Given the description of an element on the screen output the (x, y) to click on. 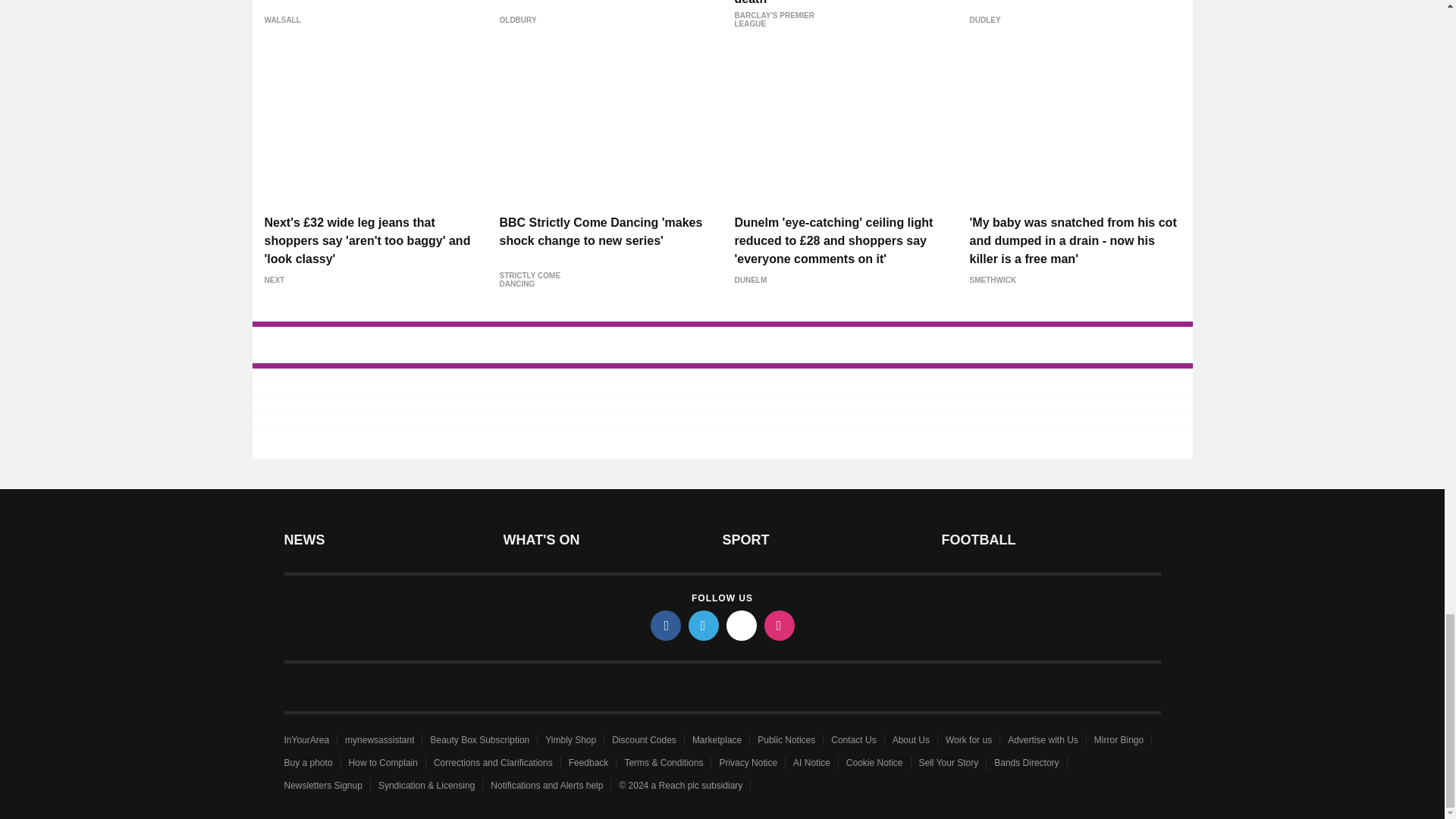
twitter (703, 625)
tiktok (741, 625)
facebook (665, 625)
instagram (779, 625)
